Given the description of an element on the screen output the (x, y) to click on. 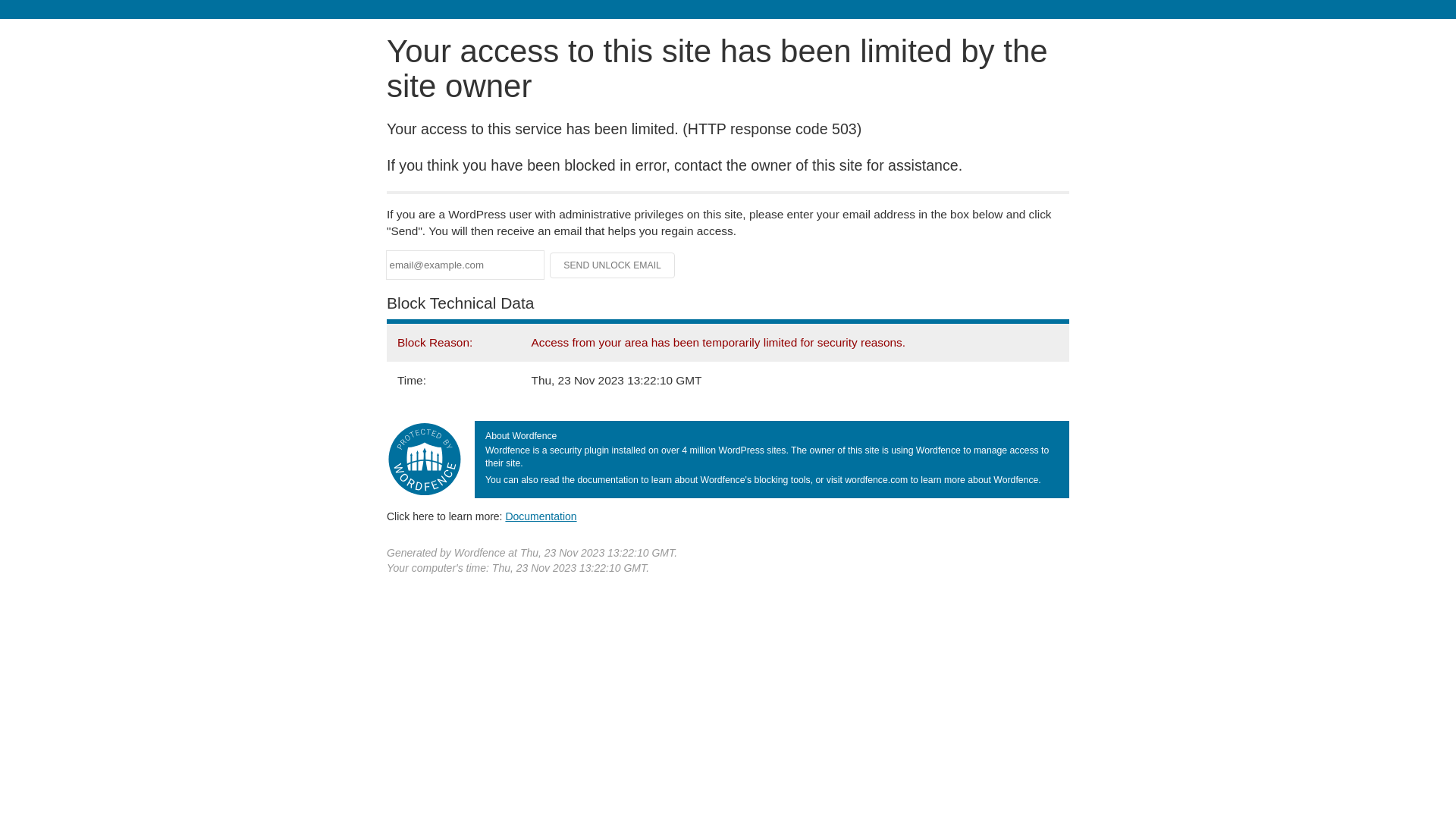
Send Unlock Email Element type: text (612, 265)
Documentation Element type: text (540, 516)
